Given the description of an element on the screen output the (x, y) to click on. 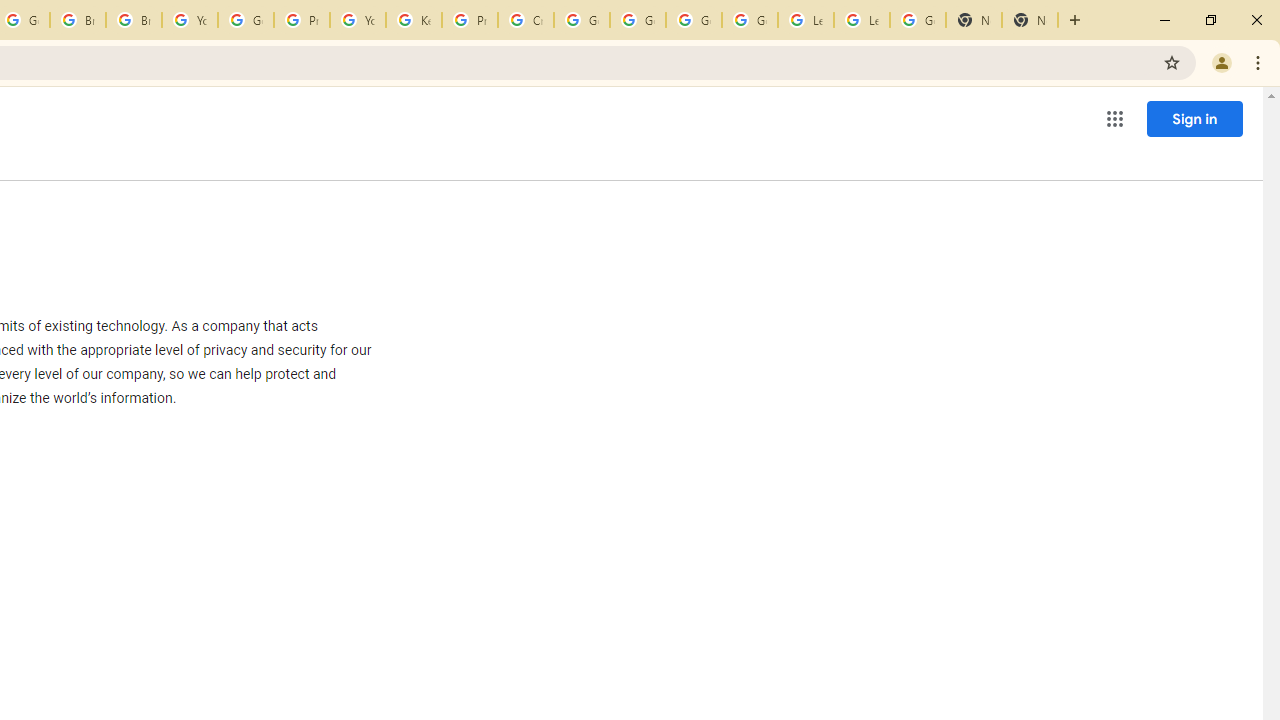
Google Account (917, 20)
New Tab (973, 20)
New Tab (1030, 20)
Google Account Help (582, 20)
Google Account Help (693, 20)
Create your Google Account (525, 20)
YouTube (189, 20)
